Given the description of an element on the screen output the (x, y) to click on. 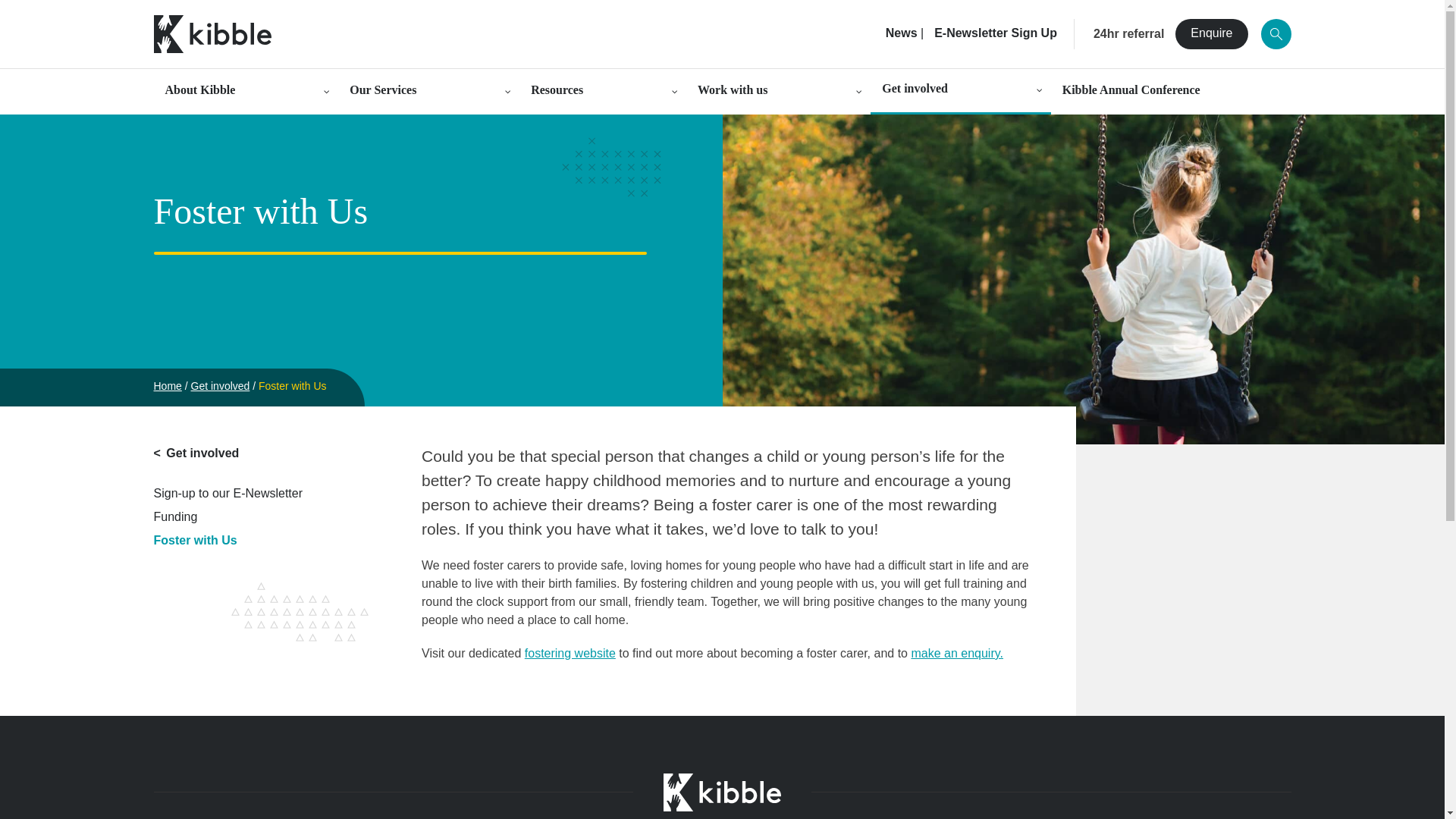
About Kibble (244, 91)
E-Newsletter Sign Up (995, 33)
Our Services (428, 91)
Enquire (1210, 33)
